Given the description of an element on the screen output the (x, y) to click on. 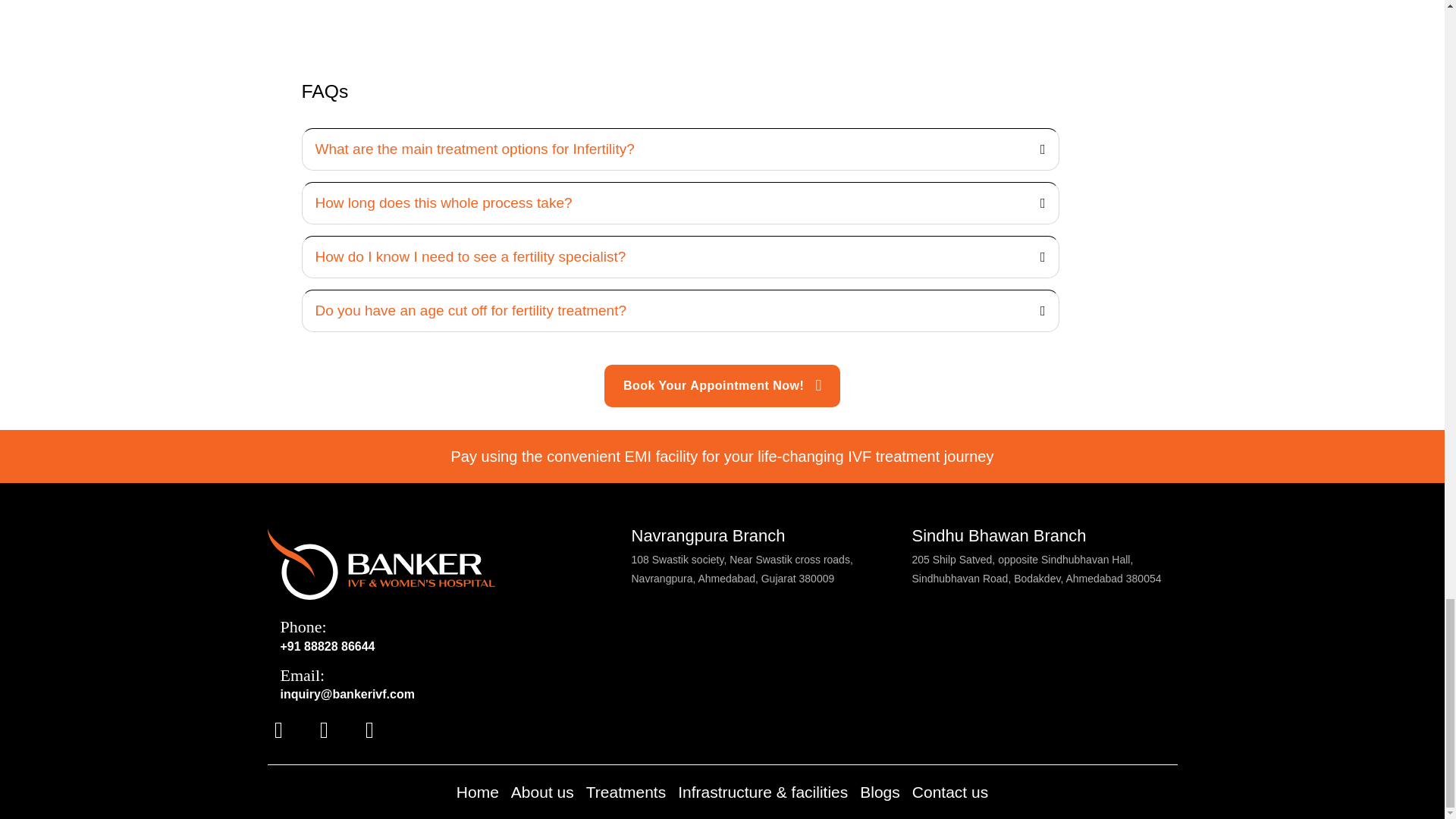
What are the main treatment options for Infertility? (474, 148)
Do you have an age cut off for fertility treatment? (471, 310)
How do I know I need to see a fertility specialist? (470, 256)
How long does this whole process take? (443, 202)
